Given the description of an element on the screen output the (x, y) to click on. 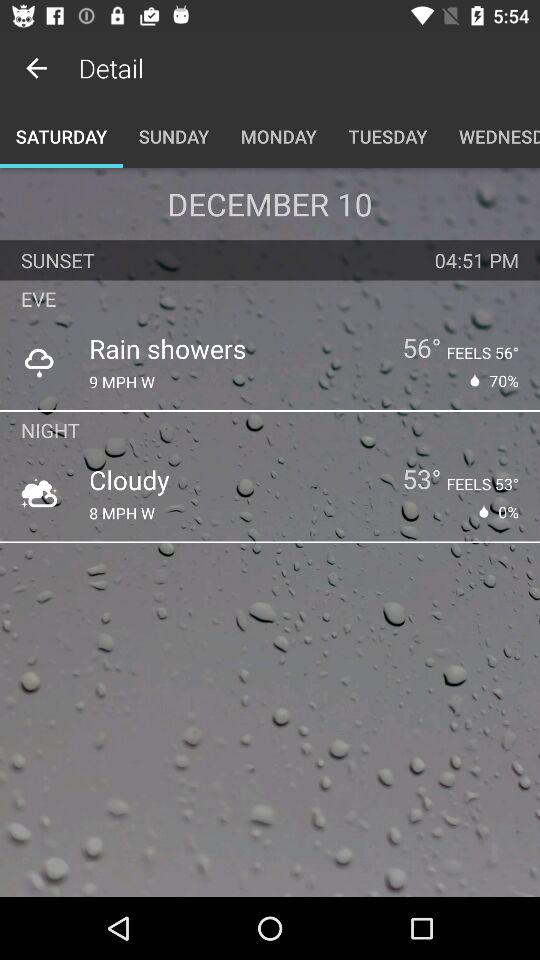
open the item to the left of the detail app (36, 68)
